Given the description of an element on the screen output the (x, y) to click on. 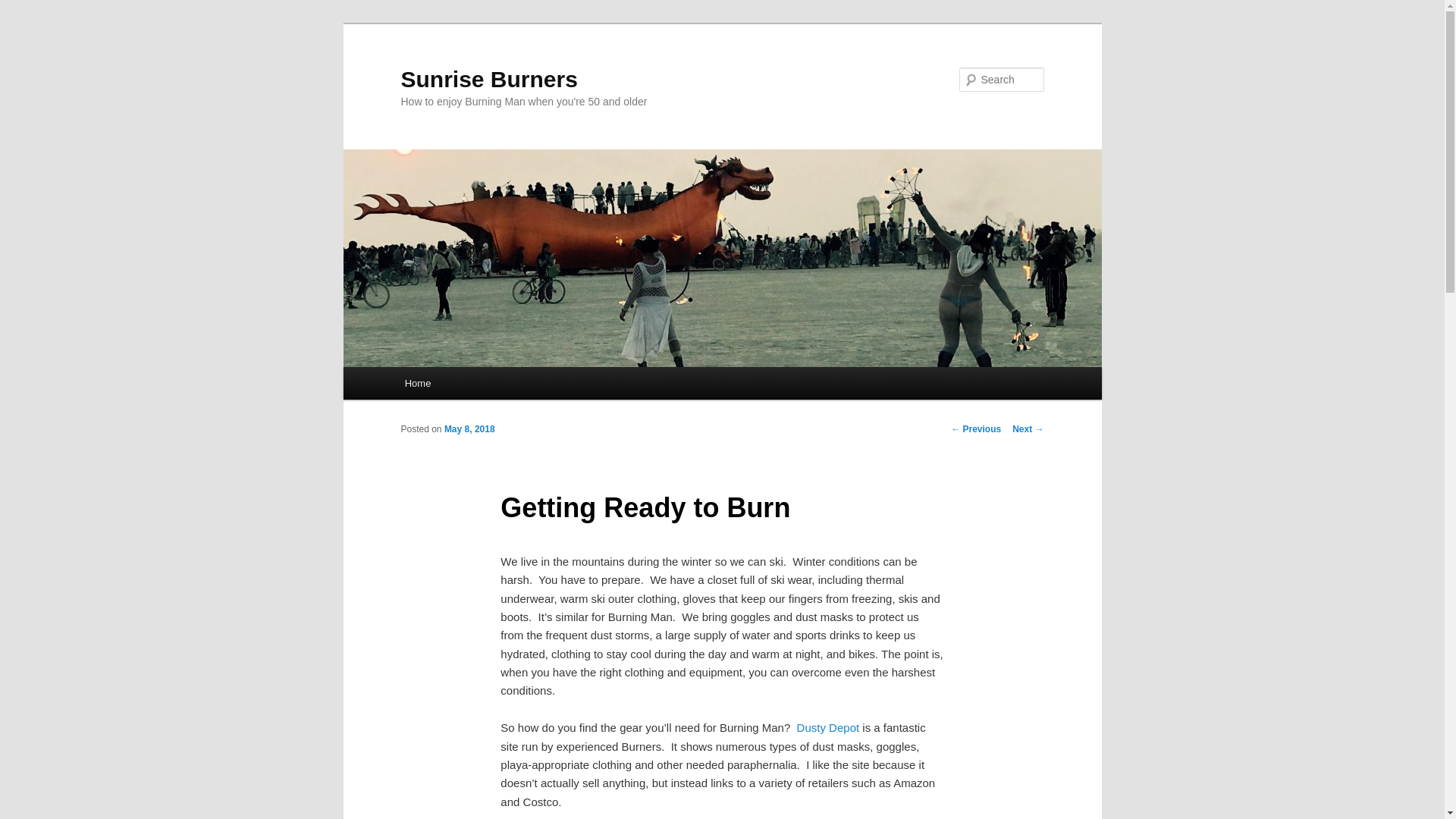
Home (417, 382)
11:37 am (469, 429)
Search (24, 8)
Dusty Depot (828, 727)
May 8, 2018 (469, 429)
Sunrise Burners (488, 78)
